Given the description of an element on the screen output the (x, y) to click on. 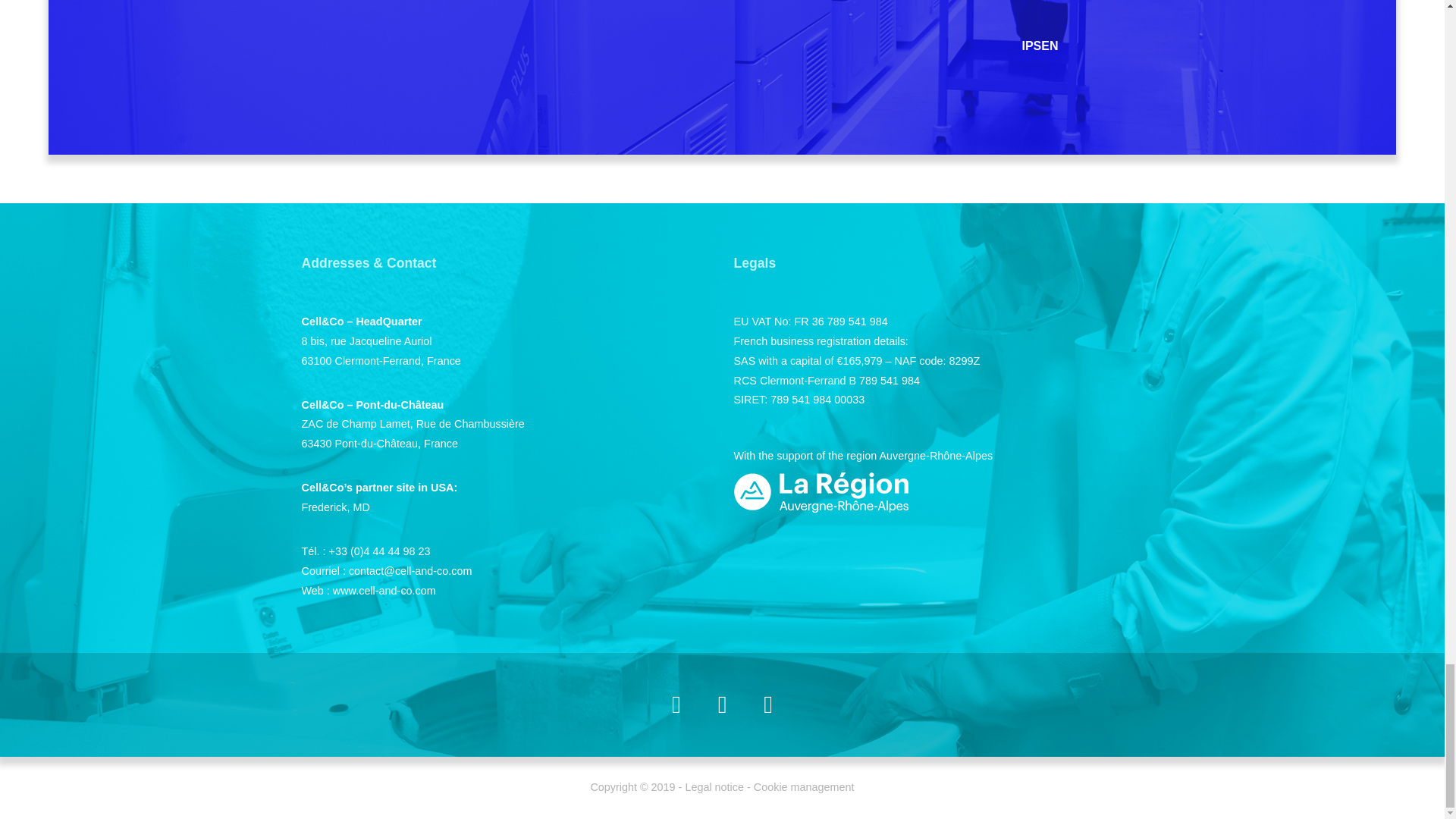
www.cell-and-co.com (384, 590)
Legal notice (714, 787)
